Given the description of an element on the screen output the (x, y) to click on. 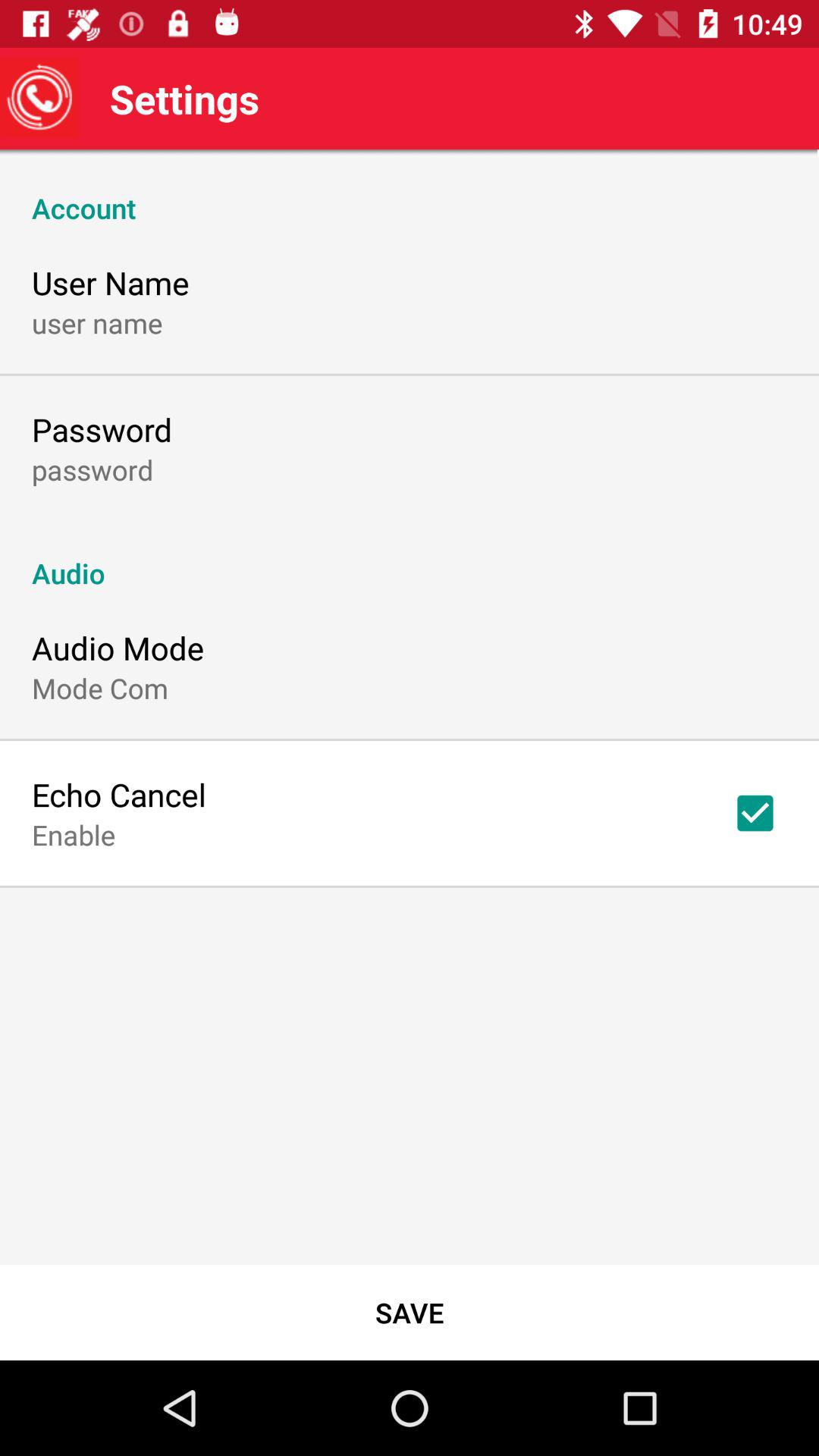
press item below echo cancel icon (73, 834)
